Given the description of an element on the screen output the (x, y) to click on. 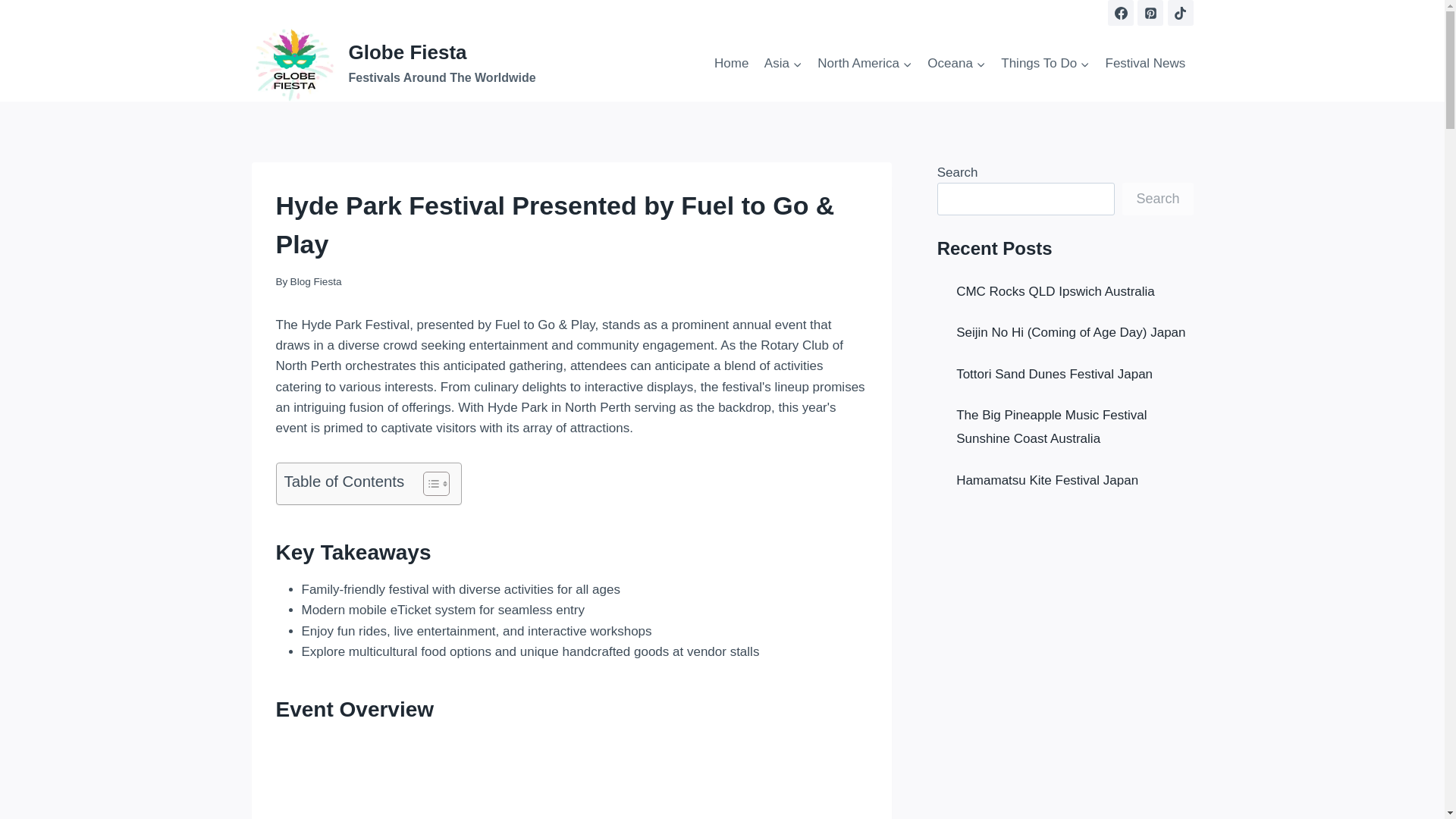
North America (864, 63)
Things To Do (1044, 63)
Asia (393, 63)
YouTube video player (783, 63)
Home (571, 777)
Oceana (731, 63)
Festival News (956, 63)
